Given the description of an element on the screen output the (x, y) to click on. 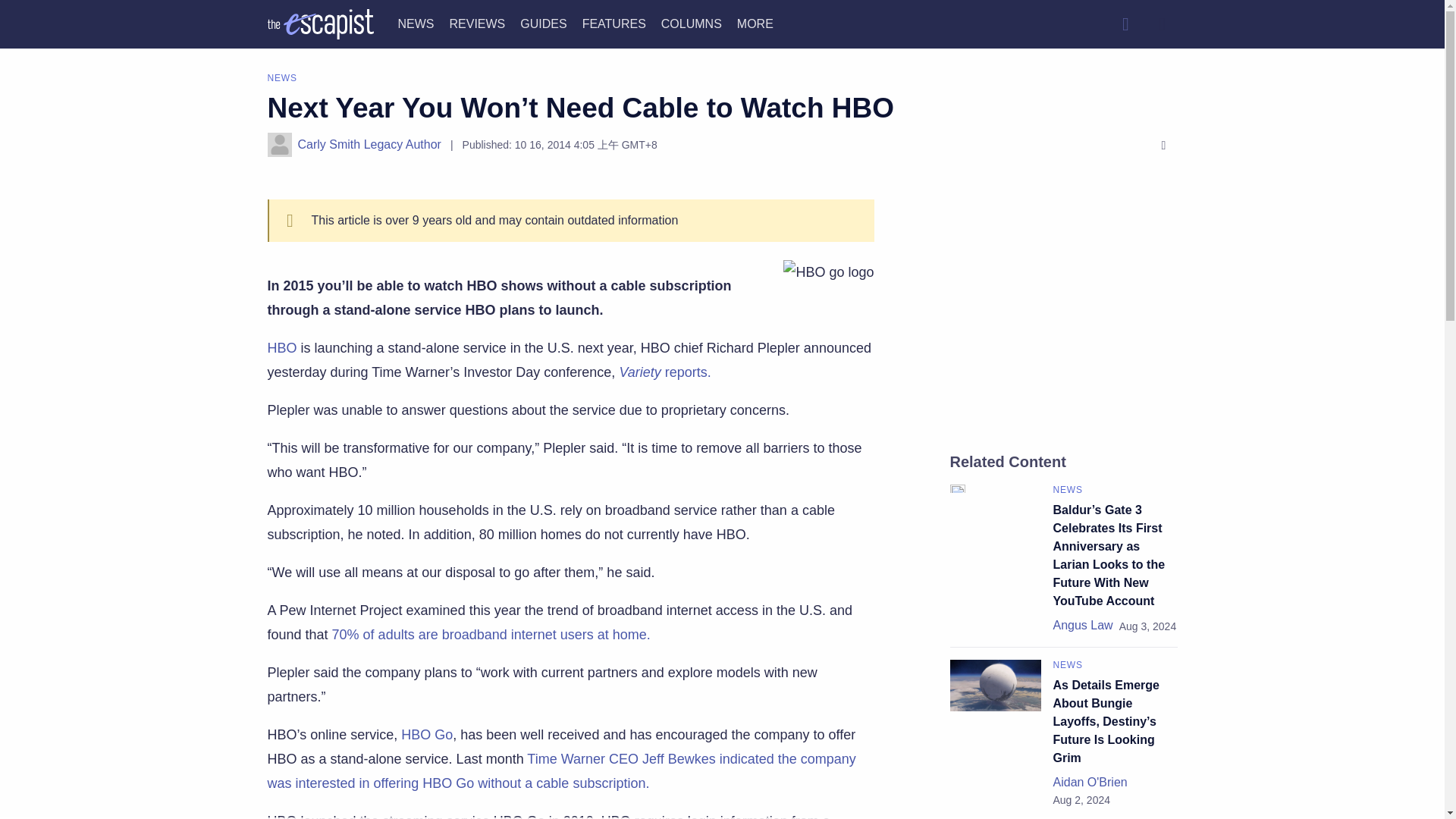
Dark Mode (1161, 24)
REVIEWS (476, 23)
HBO go logo (828, 272)
NEWS (415, 23)
GUIDES (542, 23)
FEATURES (614, 23)
Search (1124, 24)
COLUMNS (691, 23)
